Given the description of an element on the screen output the (x, y) to click on. 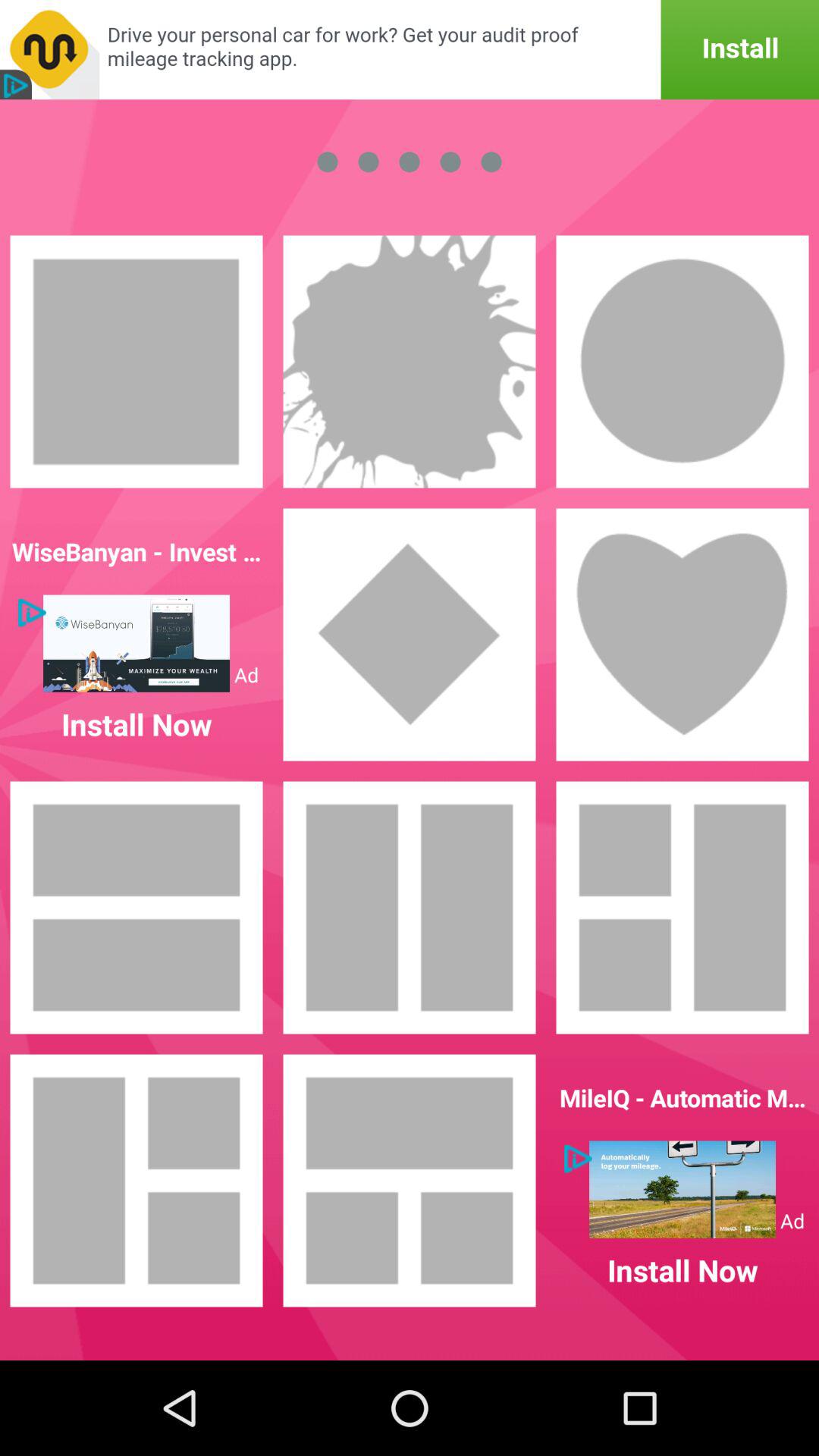
border template select (682, 361)
